Given the description of an element on the screen output the (x, y) to click on. 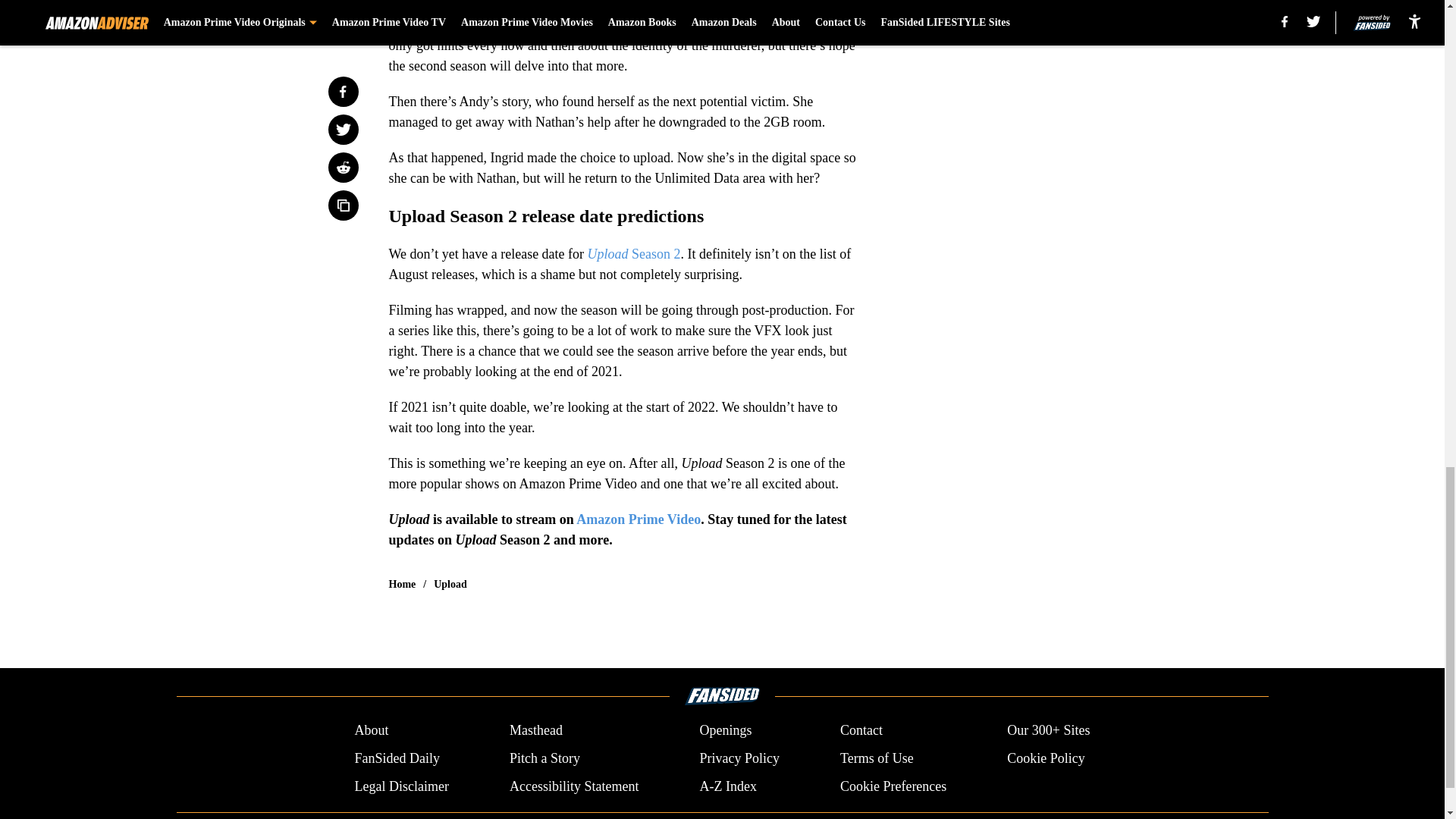
Masthead (535, 730)
Legal Disclaimer (400, 786)
Home (401, 584)
FanSided Daily (396, 758)
Upload (450, 584)
Pitch a Story (544, 758)
About (370, 730)
Privacy Policy (738, 758)
Cookie Policy (1045, 758)
Upload Season 2 (634, 253)
Contact (861, 730)
Openings (724, 730)
Terms of Use (877, 758)
Amazon Prime Video (638, 519)
